Given the description of an element on the screen output the (x, y) to click on. 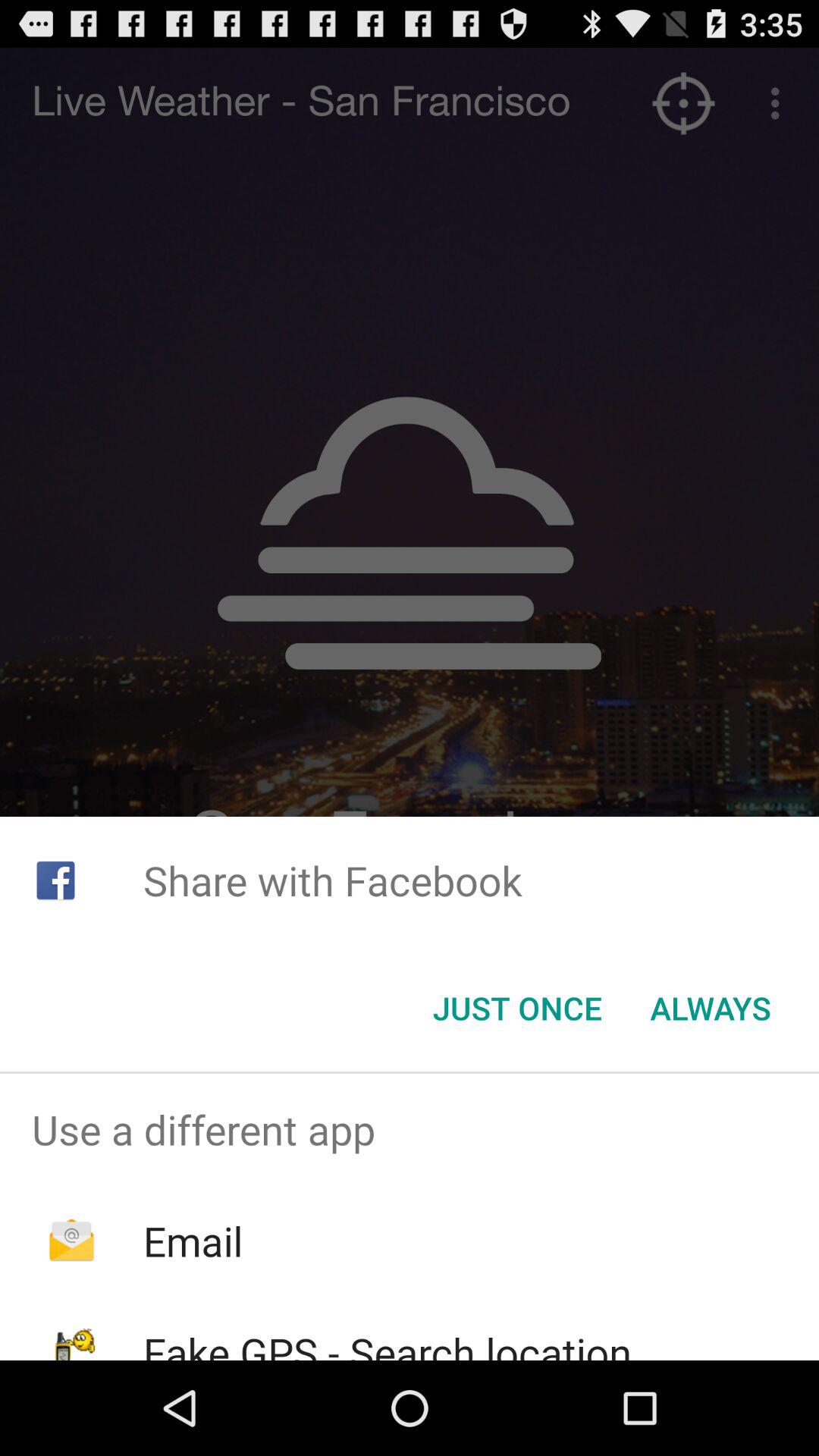
swipe to just once (517, 1007)
